Given the description of an element on the screen output the (x, y) to click on. 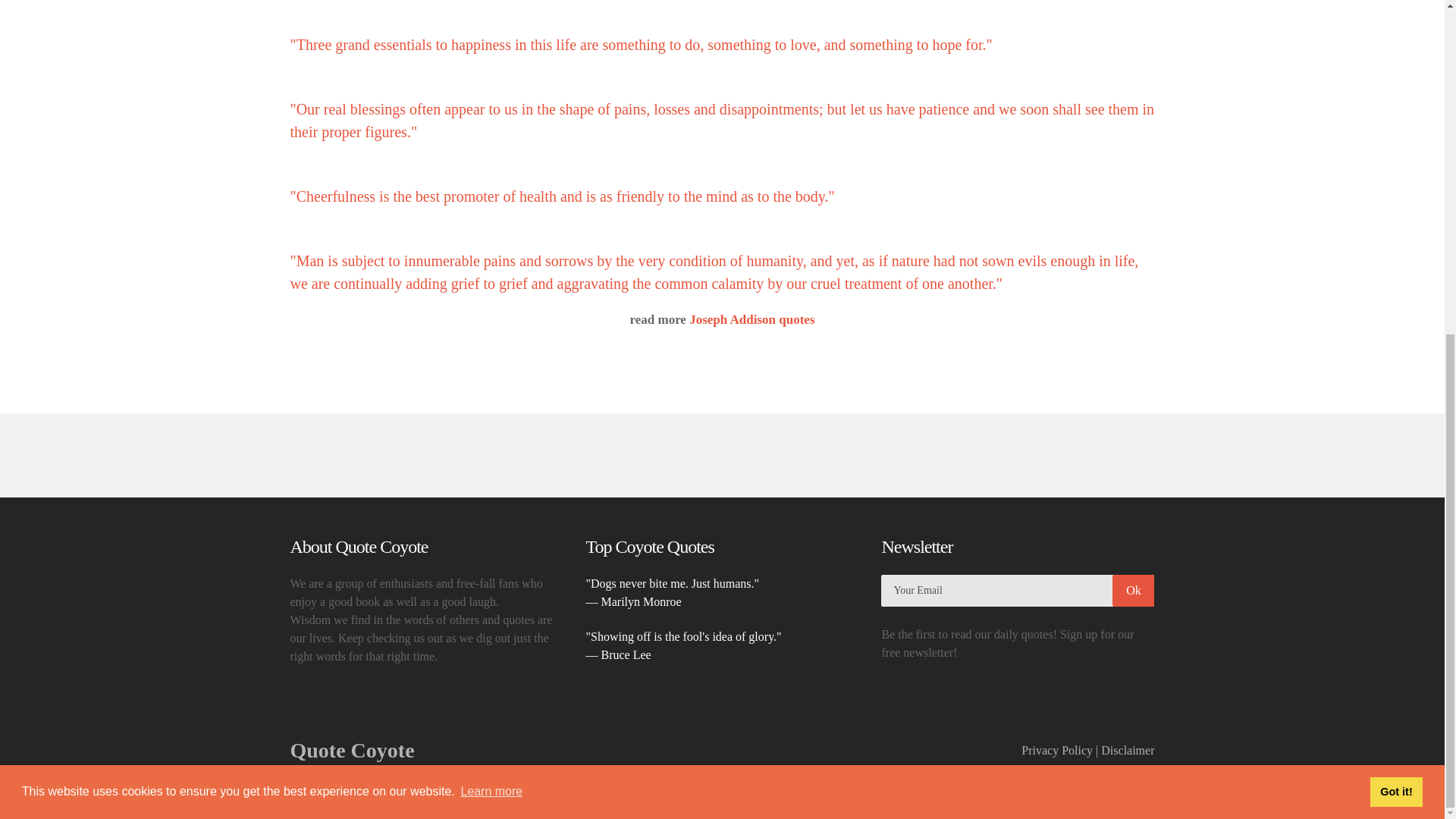
Joseph Addison quotes (713, 271)
"Showing off is the fool's idea of glory." (682, 635)
Joseph Addison quotes (561, 196)
Learn more (491, 232)
Ok (1133, 590)
Privacy Policy (1057, 749)
Joseph Addison quotes (640, 44)
Joseph Addison quotes (750, 319)
"Dogs never bite me. Just humans." (671, 583)
Joseph Addison quotes (721, 120)
Got it! (1396, 232)
